Given the description of an element on the screen output the (x, y) to click on. 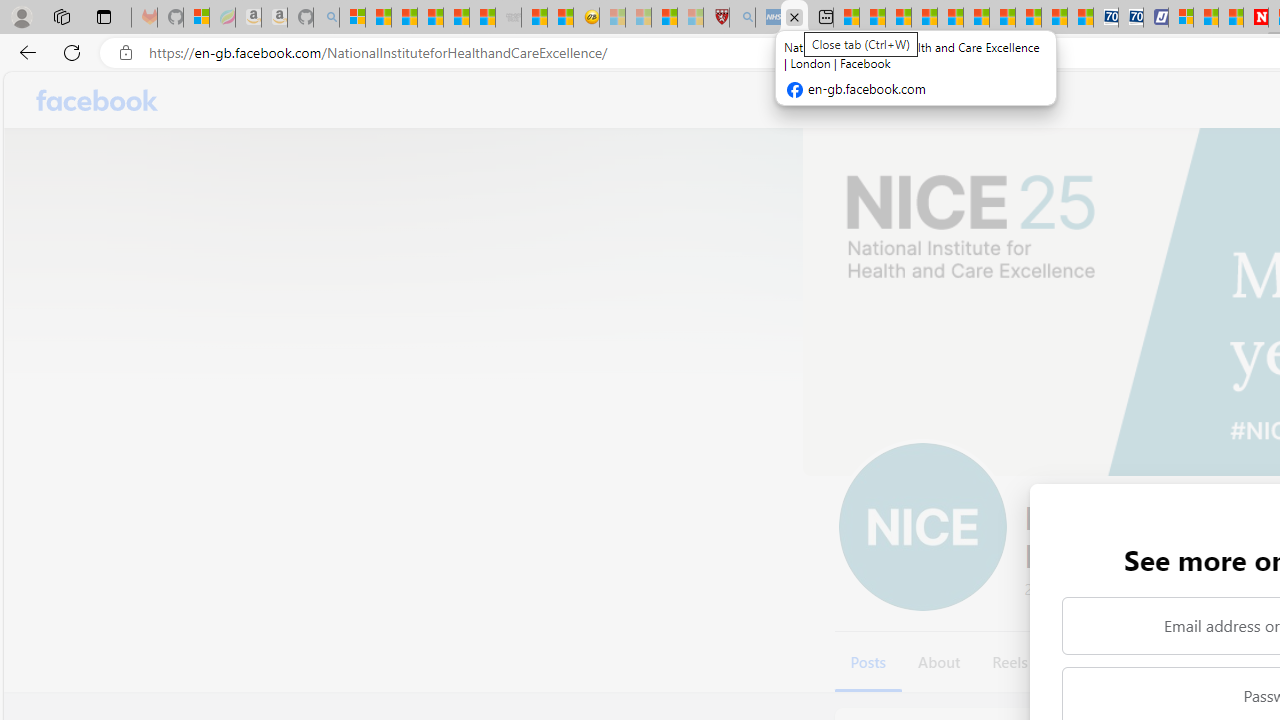
MSNBC - MSN (846, 17)
Science - MSN (664, 17)
